Given the description of an element on the screen output the (x, y) to click on. 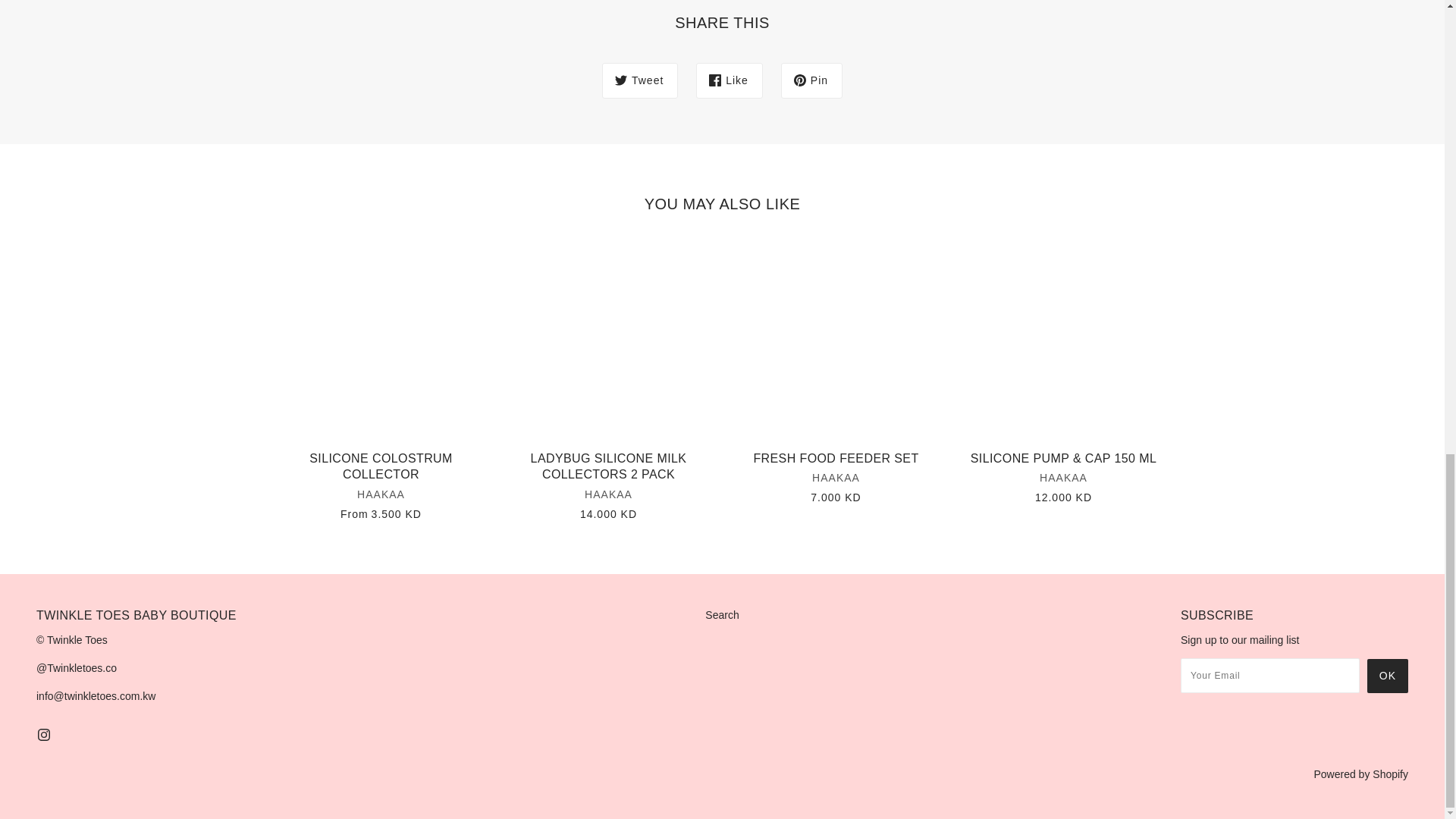
Ok (1387, 675)
Search (721, 614)
